Given the description of an element on the screen output the (x, y) to click on. 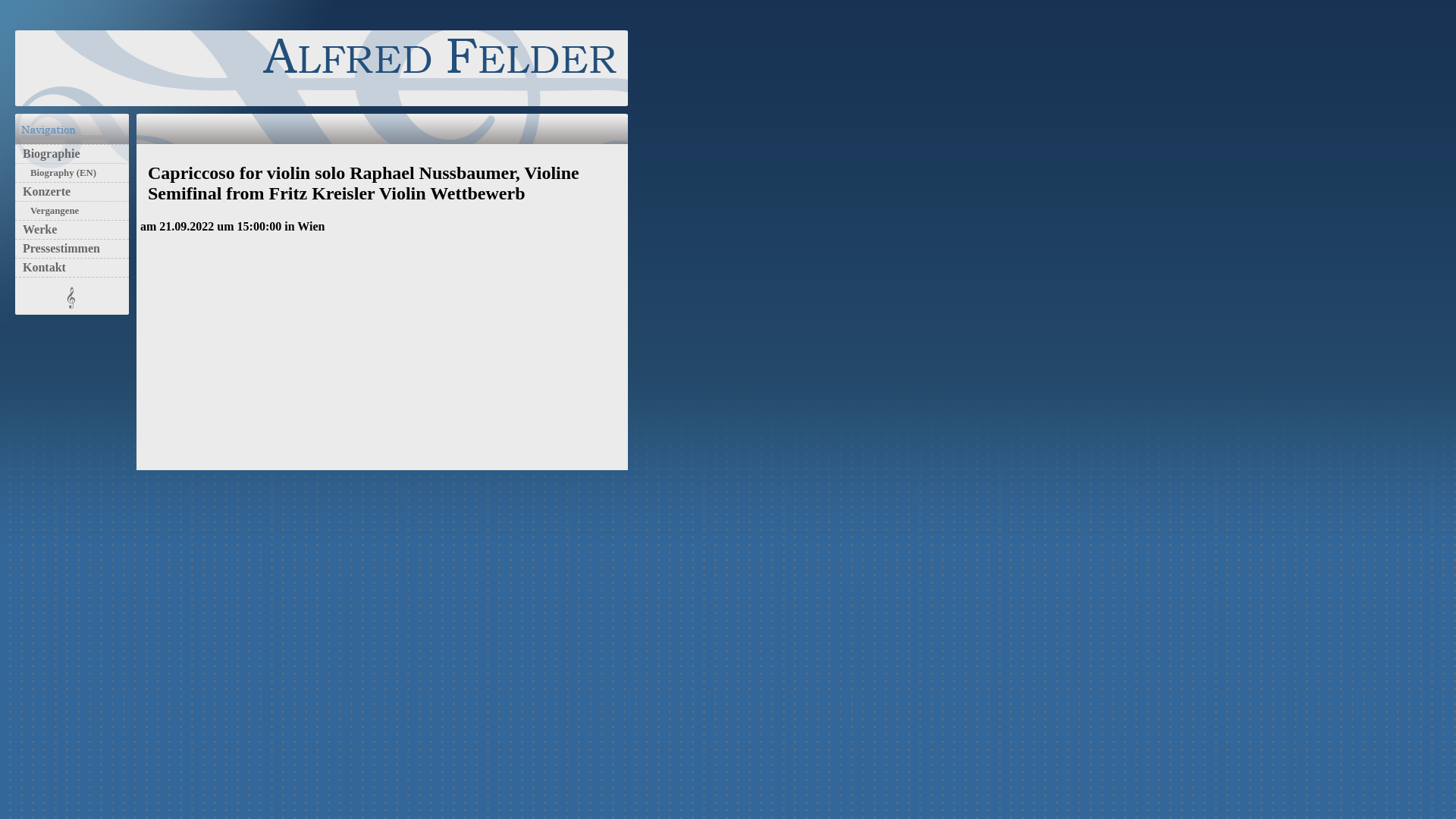
Konzerte Element type: text (42, 191)
Biography (EN) Element type: text (59, 172)
Pressestimmen Element type: text (57, 247)
Vergangene Element type: text (50, 210)
Kontakt Element type: text (40, 266)
Biographie Element type: text (47, 153)
Werke Element type: text (35, 228)
